Given the description of an element on the screen output the (x, y) to click on. 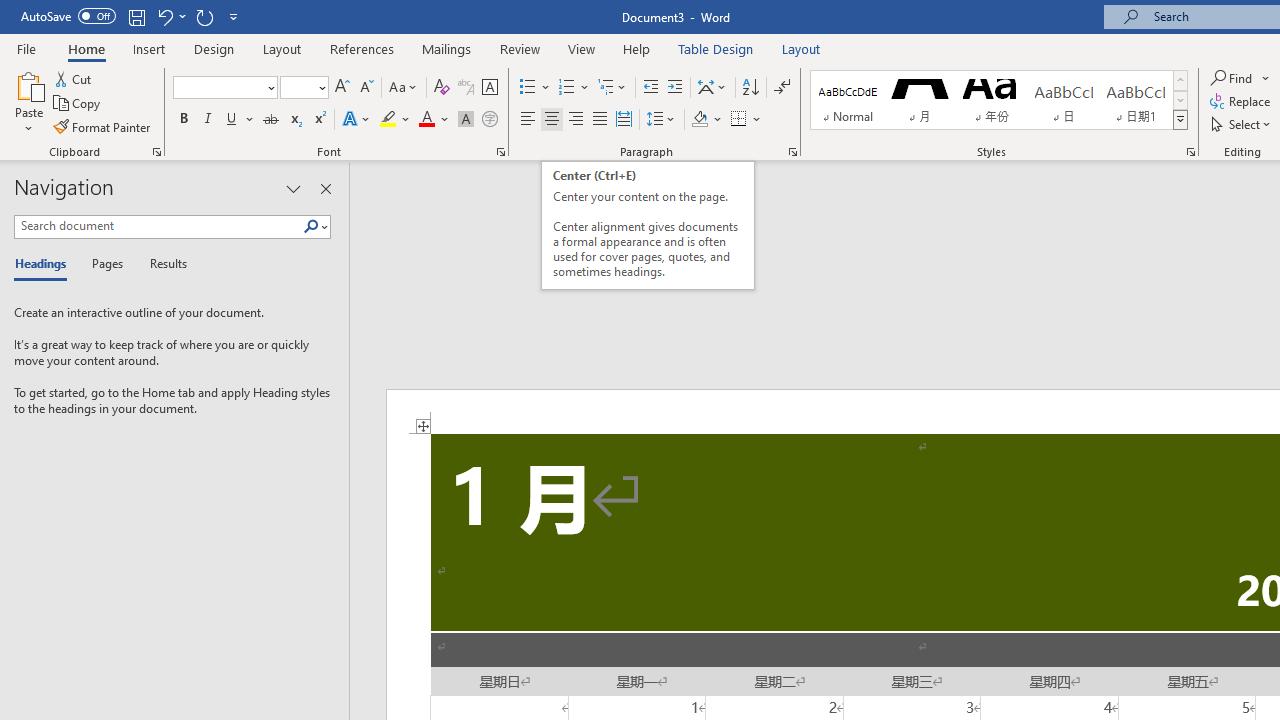
Repeat Doc Close (204, 15)
Table Design (715, 48)
Shading (706, 119)
Character Border (489, 87)
Copy (78, 103)
Shrink Font (365, 87)
Office Clipboard... (156, 151)
Styles (1179, 120)
Row Down (1179, 100)
Italic (207, 119)
